Given the description of an element on the screen output the (x, y) to click on. 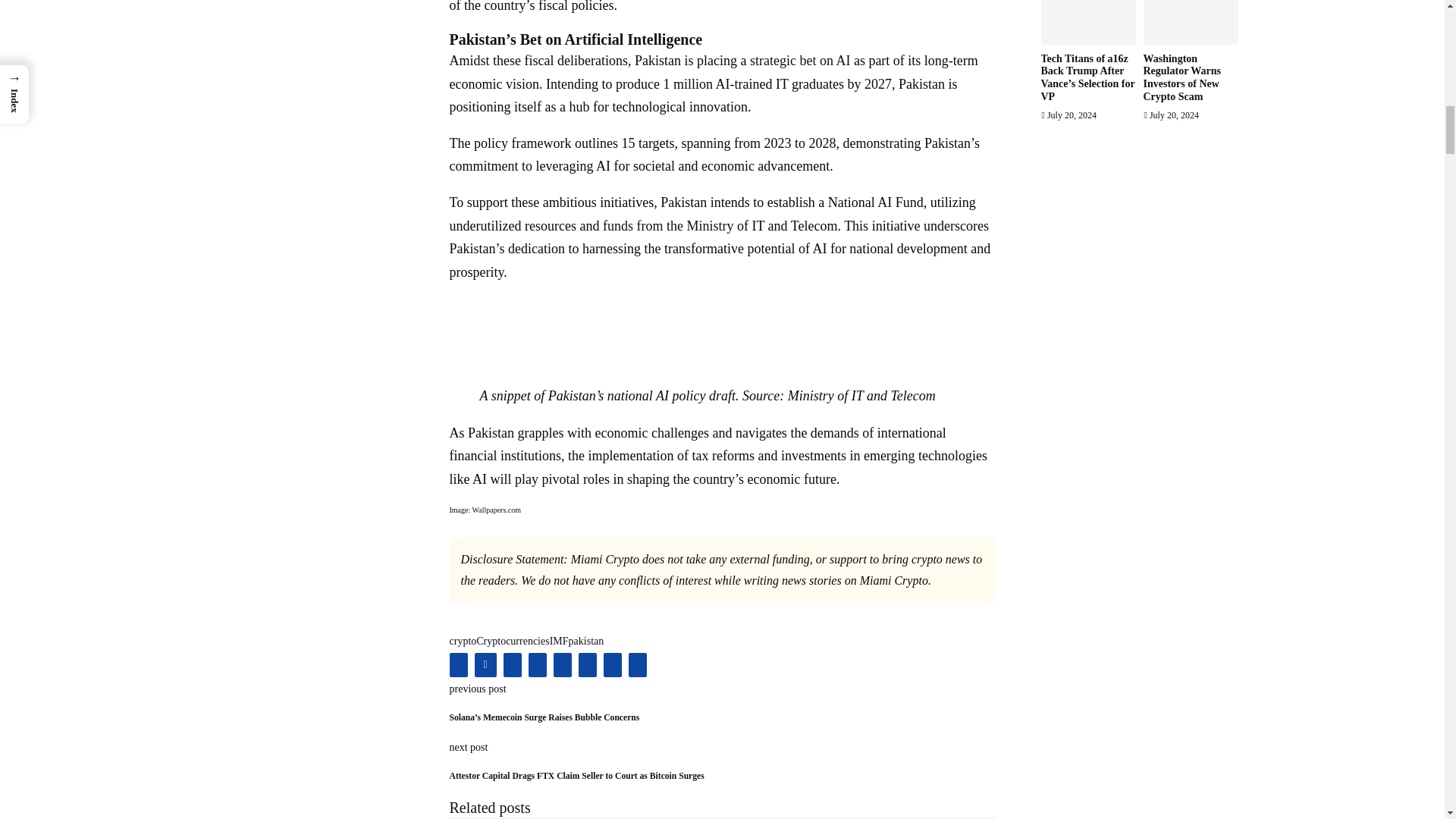
Cryptocurrencies (512, 641)
pakistan (586, 641)
crypto (462, 641)
Wallpapers.com (496, 510)
IMF (559, 641)
funds from the Ministry (667, 225)
strategic bet on AI (801, 60)
